Given the description of an element on the screen output the (x, y) to click on. 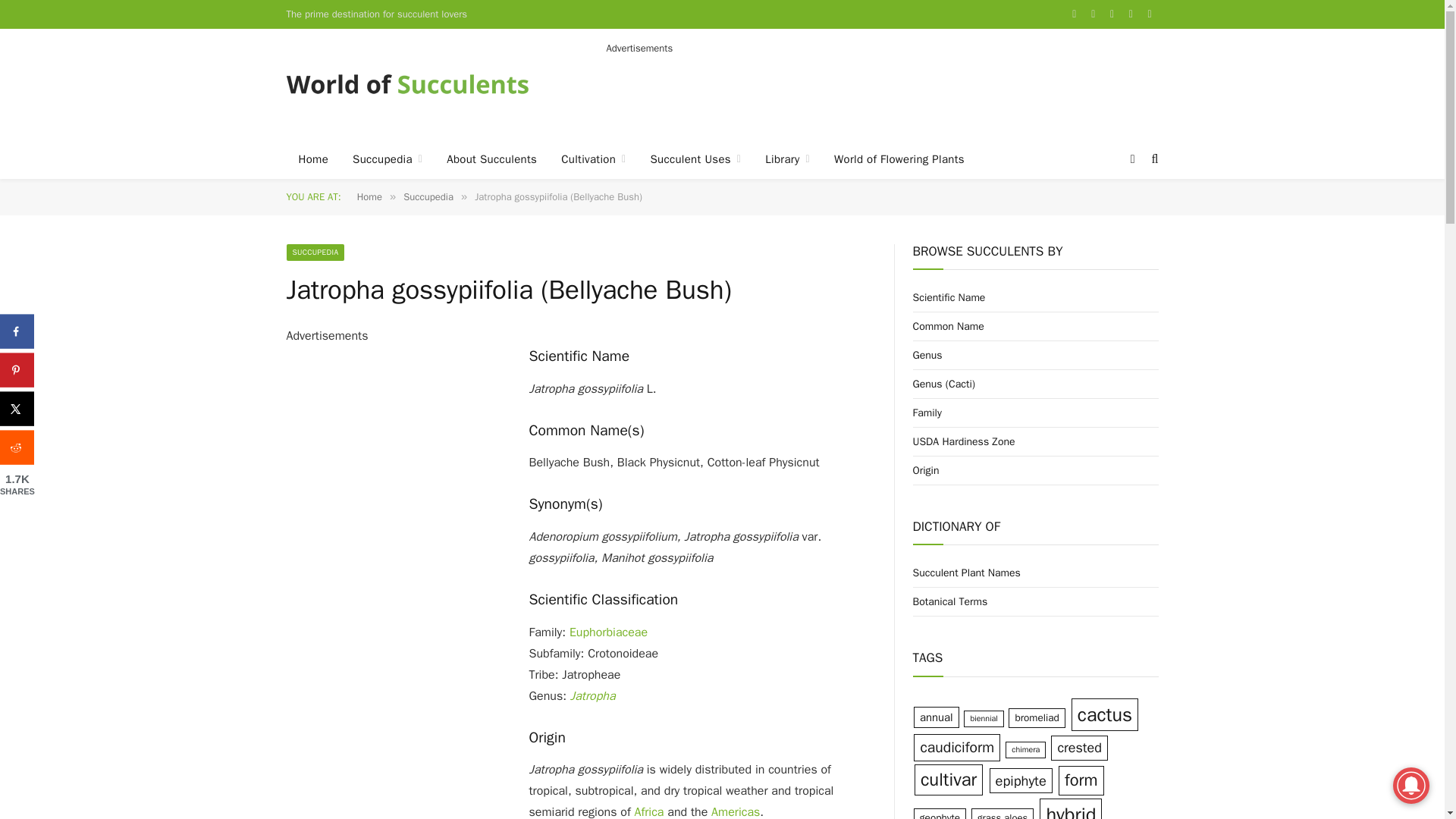
Save to Pinterest (16, 369)
Share on X (16, 408)
Switch to Dark Design - easier on eyes. (1132, 159)
Advertisement (882, 89)
World of Succulents (407, 83)
Share on Facebook (16, 331)
